Given the description of an element on the screen output the (x, y) to click on. 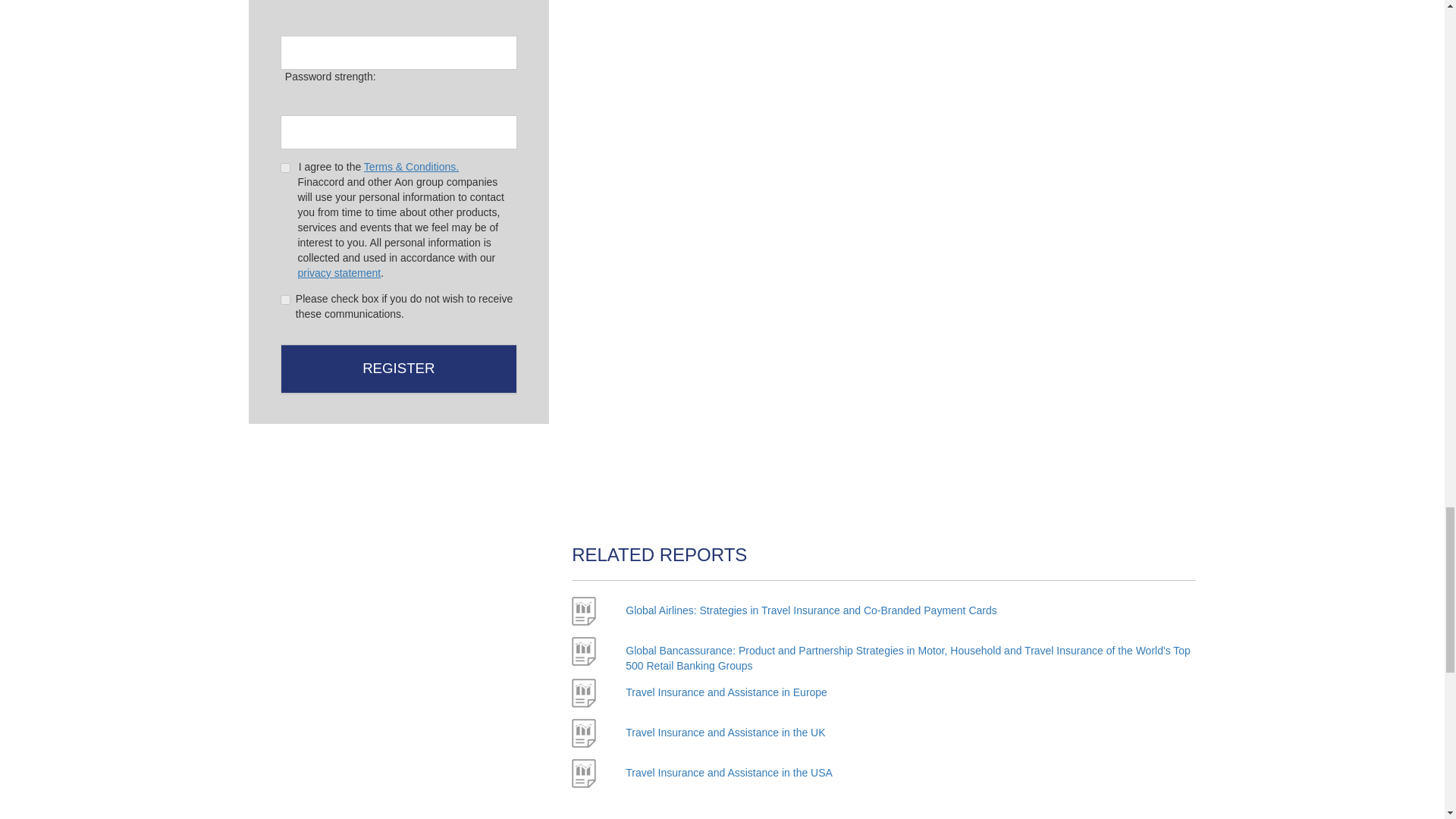
privacy statement (338, 272)
on (285, 167)
Travel Insurance and Assistance in Europe (726, 692)
Register (398, 368)
Travel Insurance and Assistance in the UK (725, 732)
Travel Insurance and Assistance in the USA (729, 772)
on (285, 299)
Register (398, 368)
